Given the description of an element on the screen output the (x, y) to click on. 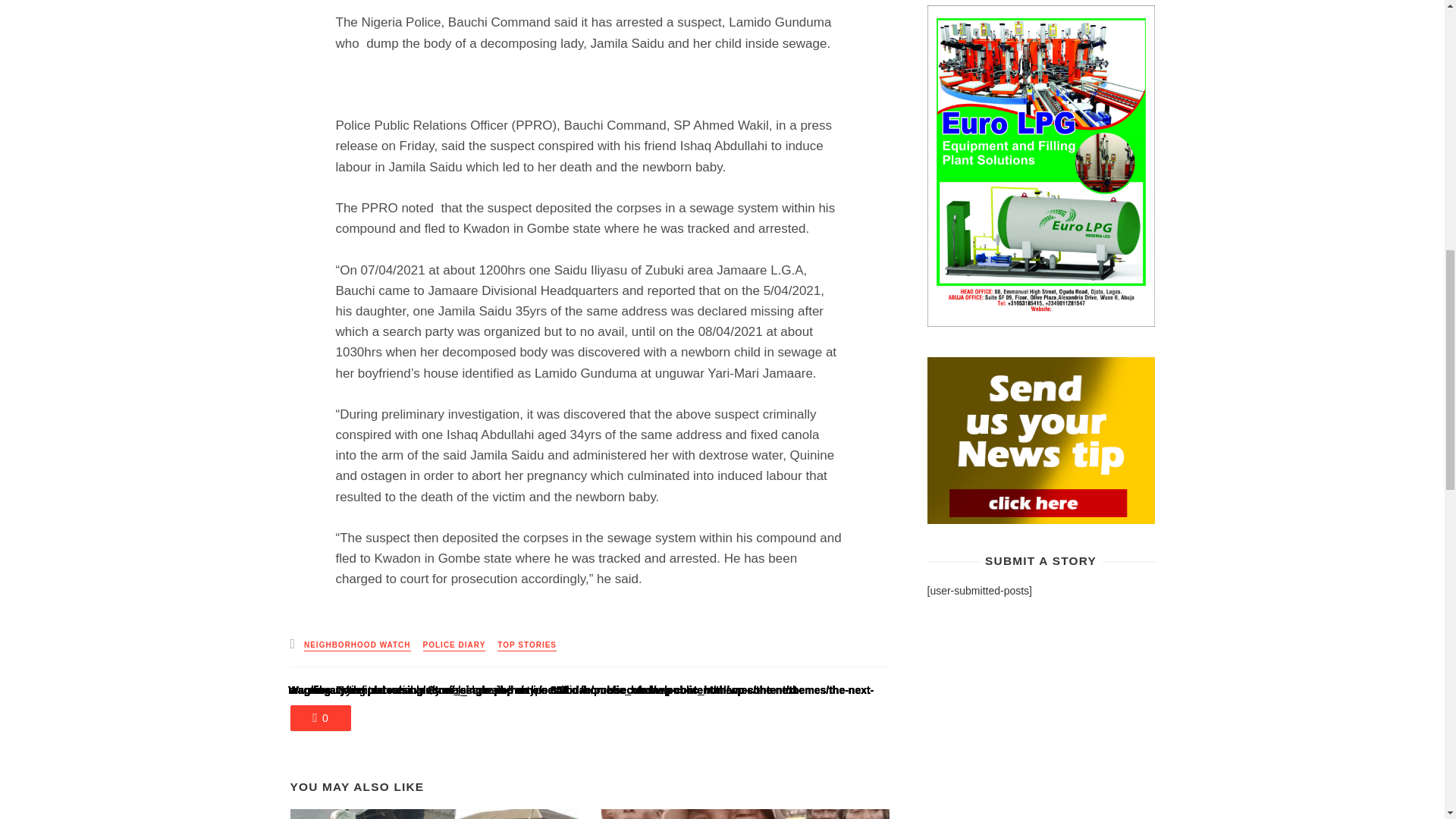
0 Comments (319, 718)
POLICE DIARY (454, 645)
TOP STORIES (526, 645)
0 (319, 718)
NEIGHBORHOOD WATCH (357, 645)
Send us your news tip (1040, 439)
